Given the description of an element on the screen output the (x, y) to click on. 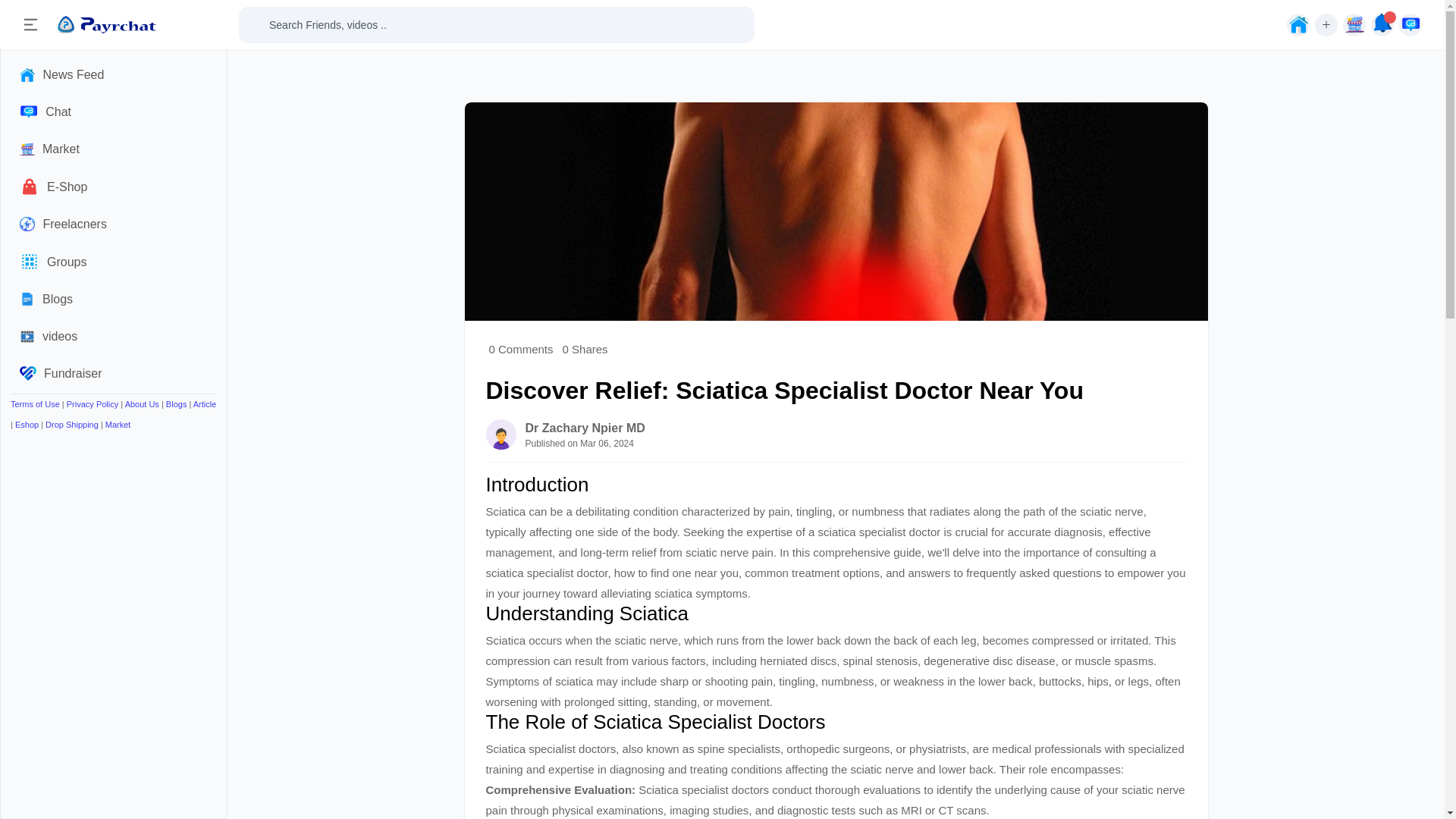
Blogs (176, 403)
About Us (141, 403)
Terms of Use (34, 403)
Privacy Policy (91, 403)
Groups (113, 261)
Chat (113, 111)
videos (113, 335)
Blogs (113, 298)
Eshop (26, 424)
News Feed (113, 74)
Freelacners (113, 223)
Fundraiser (113, 373)
0 Comments (520, 349)
Article (204, 403)
Market (117, 424)
